Given the description of an element on the screen output the (x, y) to click on. 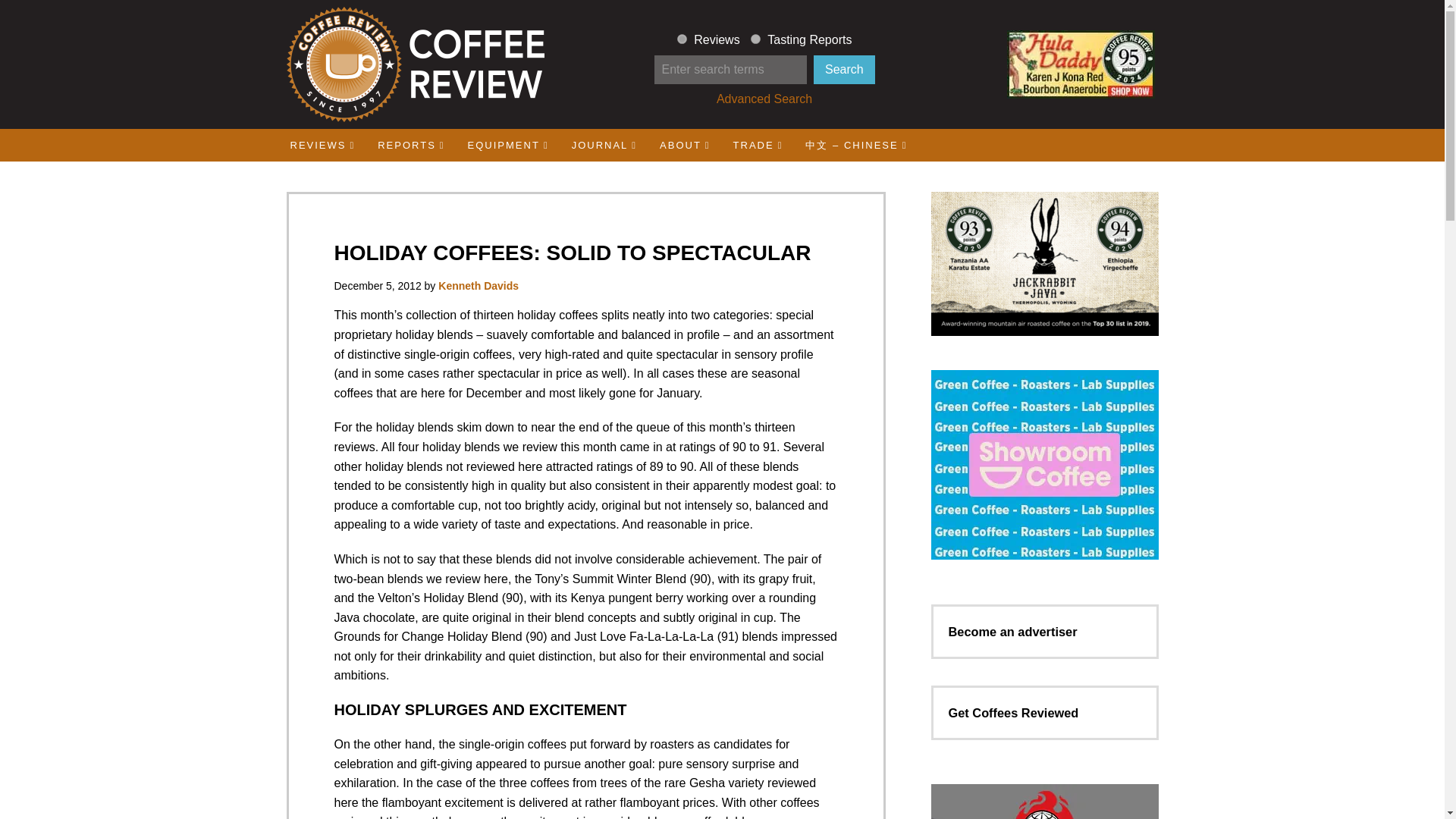
EQUIPMENT (508, 144)
Get coffees reviewed (1012, 712)
REPORTS (410, 144)
REVIEWS (322, 144)
Search (844, 69)
Search (844, 69)
Advanced Search (764, 98)
review (682, 39)
Search (844, 69)
JOURNAL (603, 144)
COFFEE REVIEW (414, 64)
Become an advertiser (1012, 631)
post (755, 39)
ABOUT (684, 144)
